Given the description of an element on the screen output the (x, y) to click on. 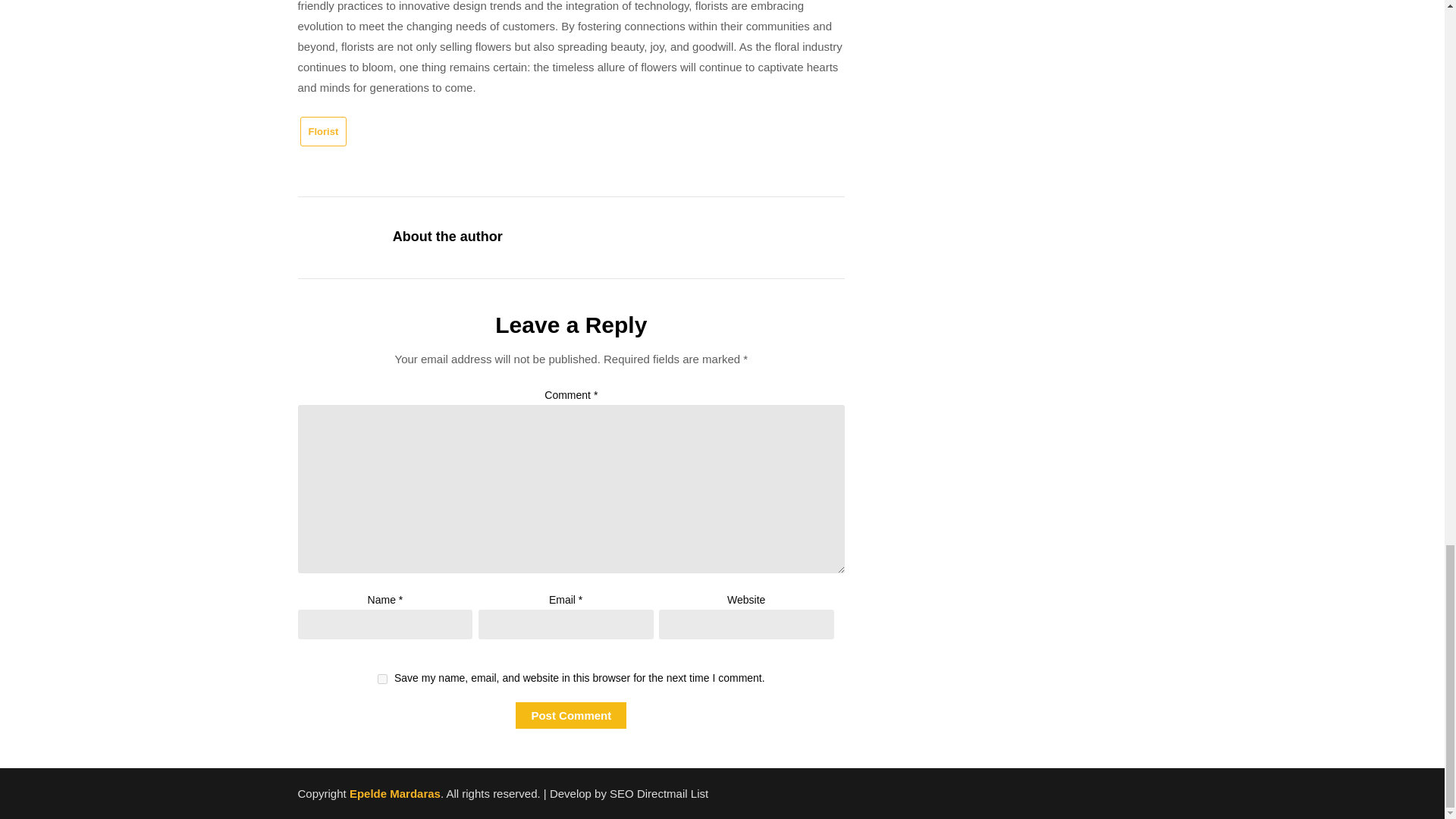
Post Comment (570, 714)
Post Comment (570, 714)
yes (382, 678)
Florist (323, 131)
